Given the description of an element on the screen output the (x, y) to click on. 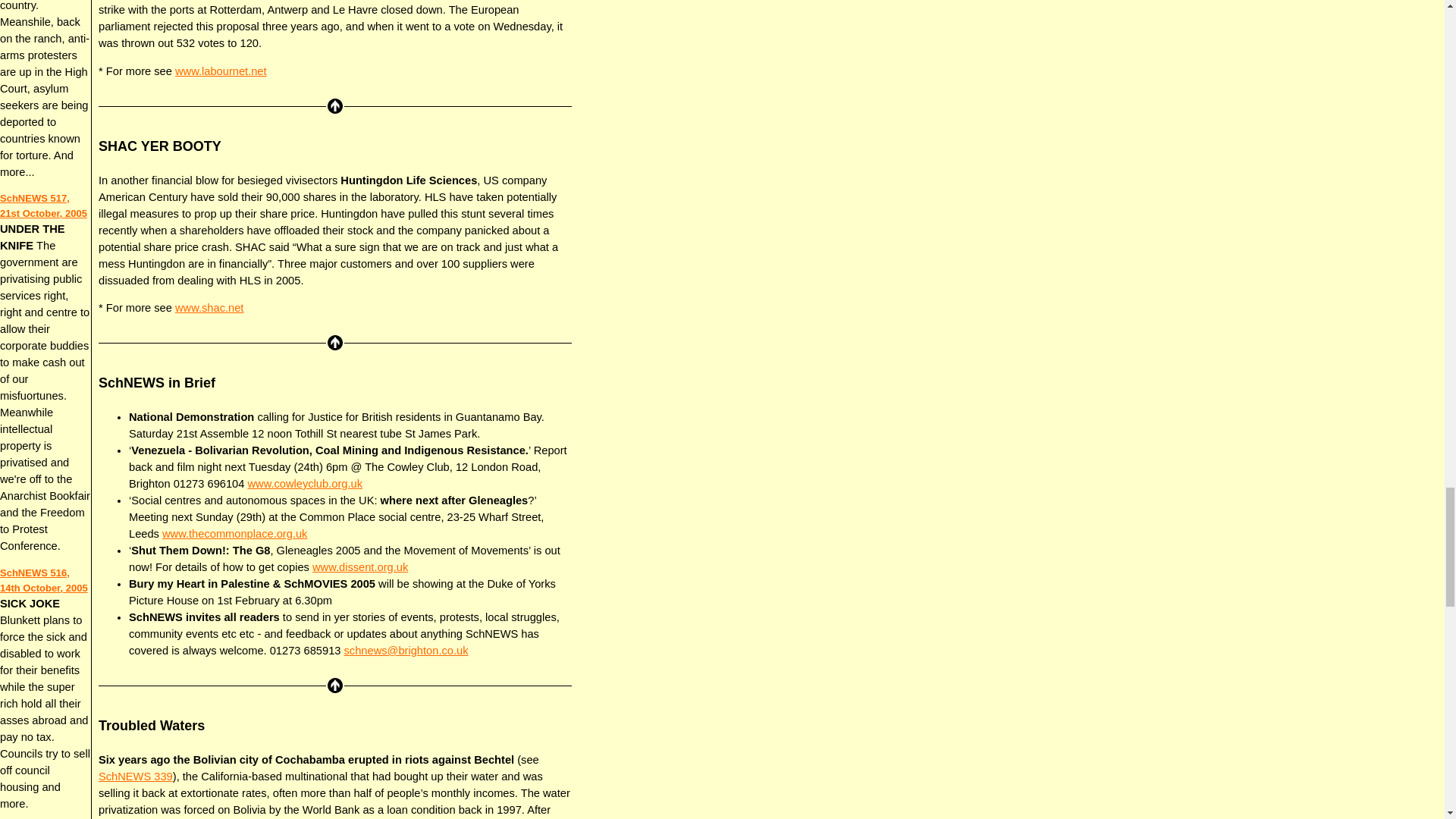
SchNEWS 516, 14th October, 2005 (43, 580)
SchNEWS 517, 21st October, 2005 (43, 205)
